Given the description of an element on the screen output the (x, y) to click on. 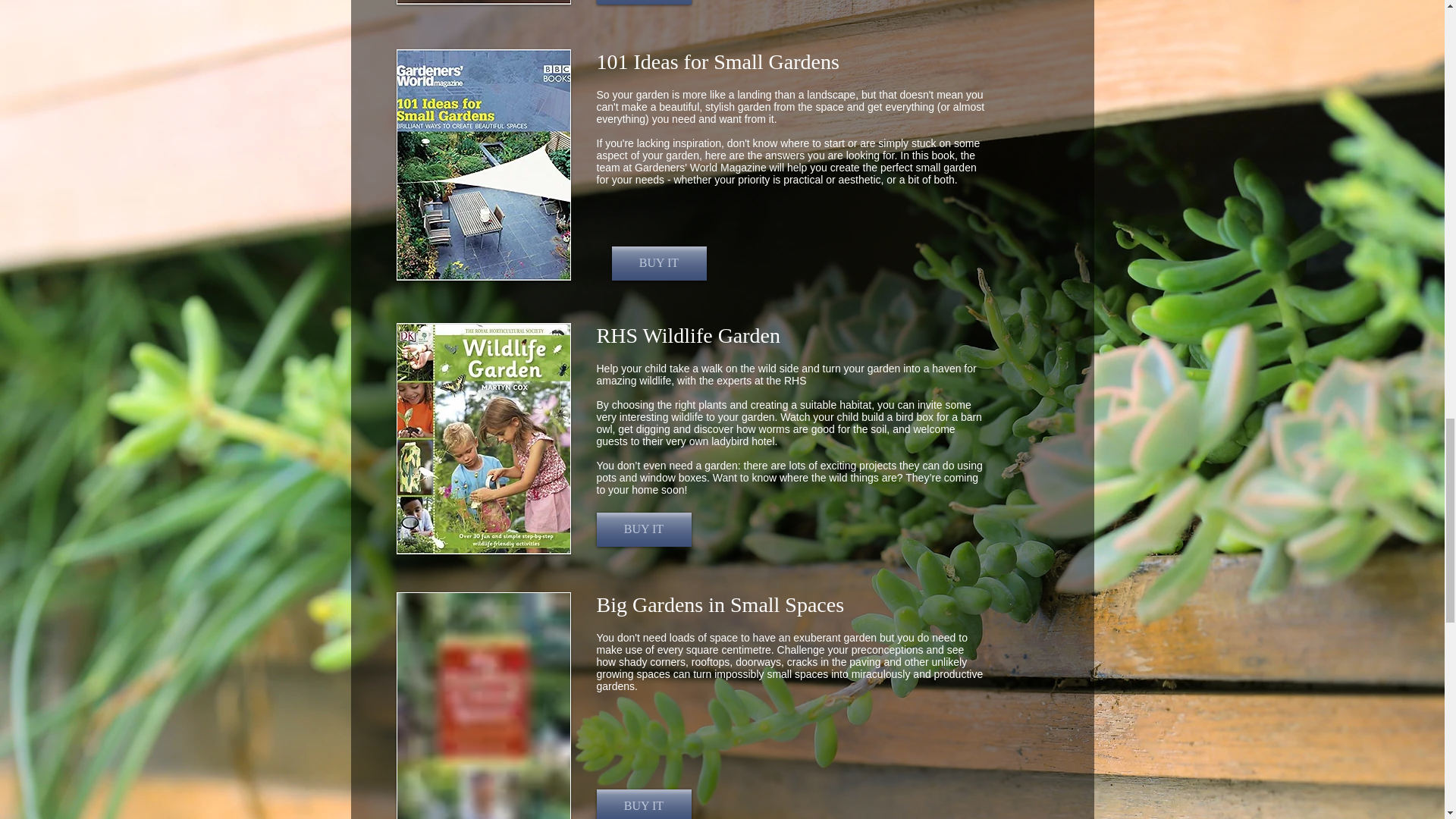
BUY IT (658, 263)
BUY IT (642, 804)
BUY IT (642, 529)
BUY IT (642, 2)
